Given the description of an element on the screen output the (x, y) to click on. 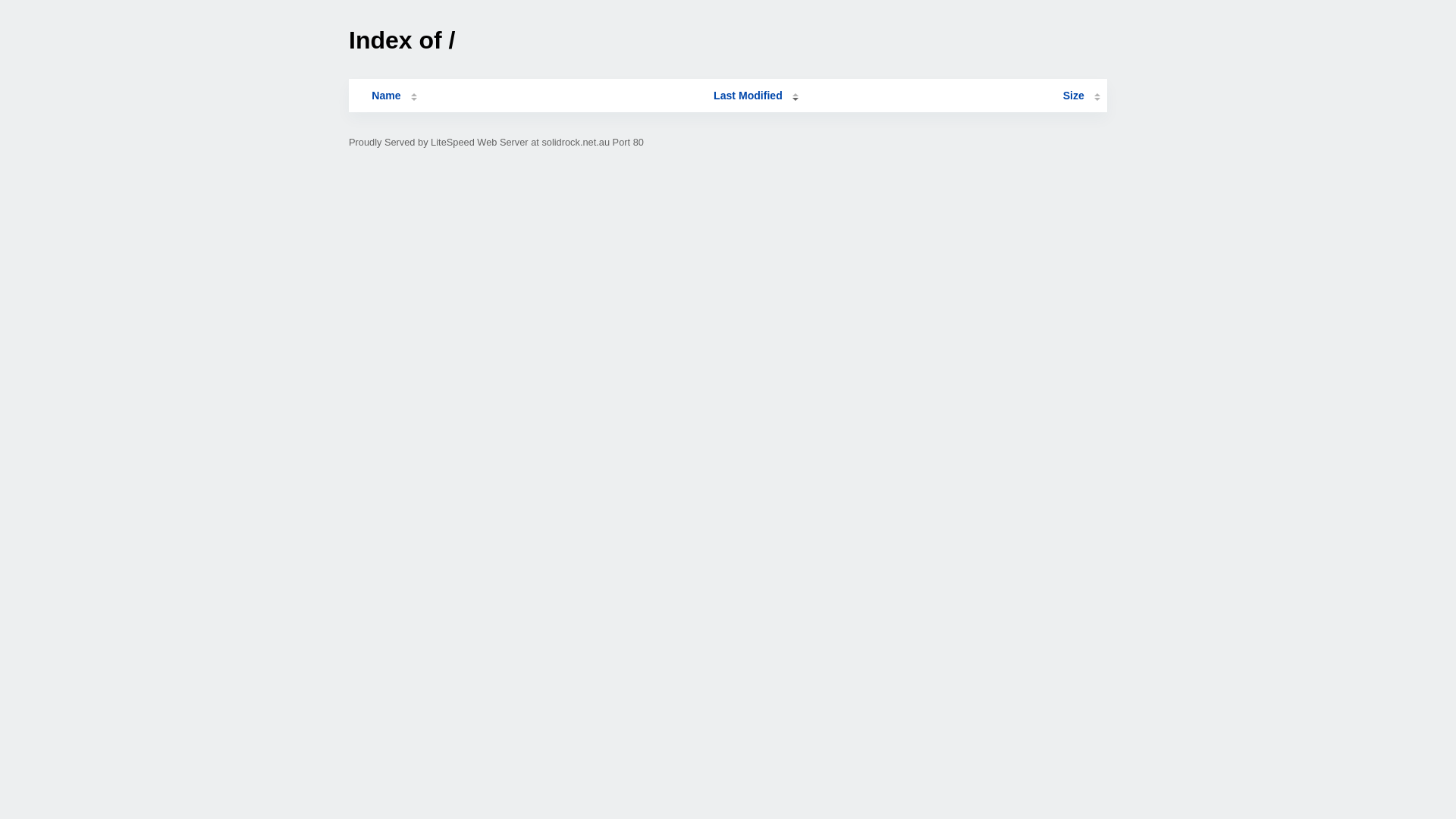
Name Element type: text (385, 95)
Size Element type: text (1081, 95)
Last Modified Element type: text (755, 95)
